Given the description of an element on the screen output the (x, y) to click on. 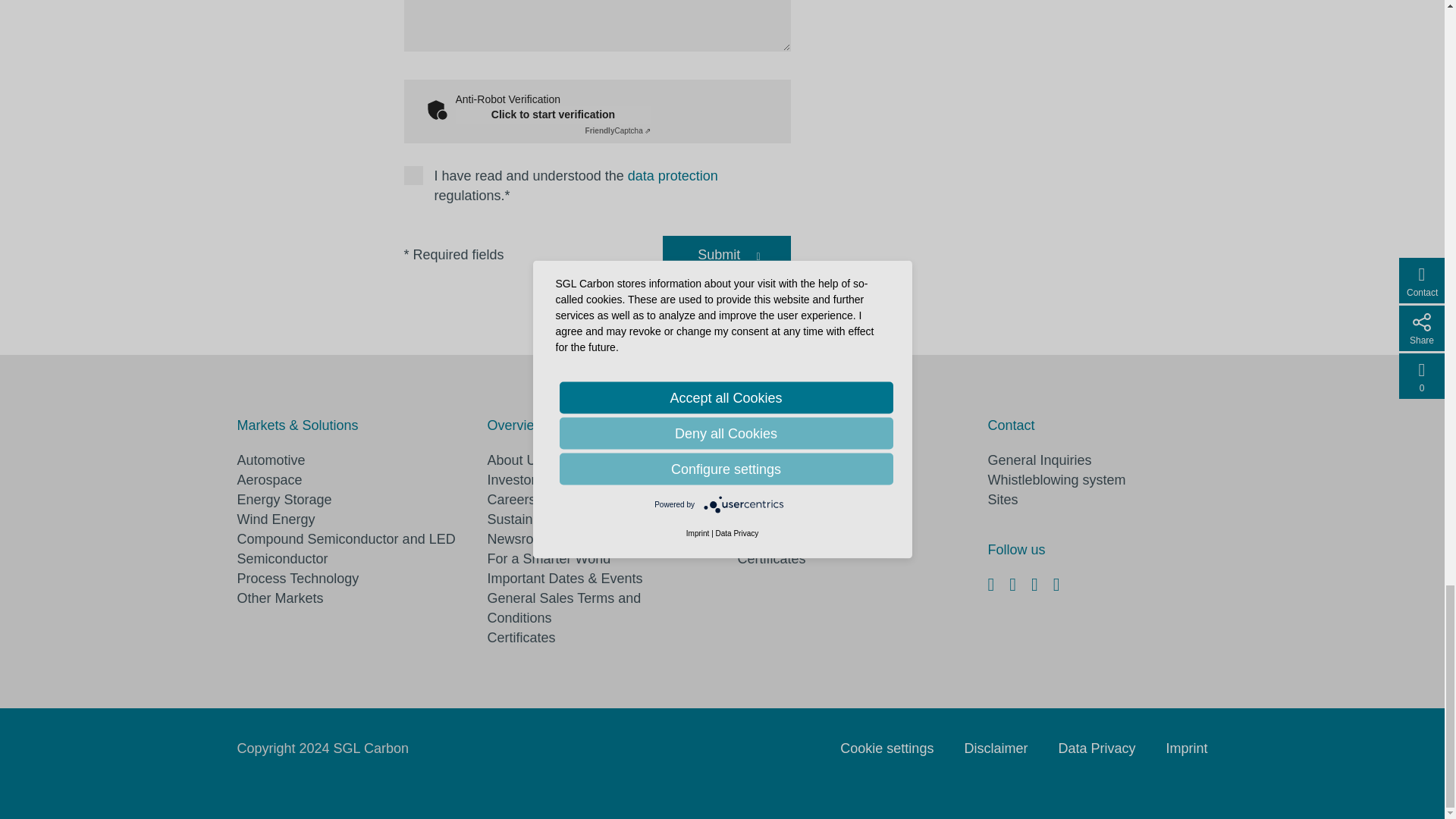
Submit (718, 254)
